Given the description of an element on the screen output the (x, y) to click on. 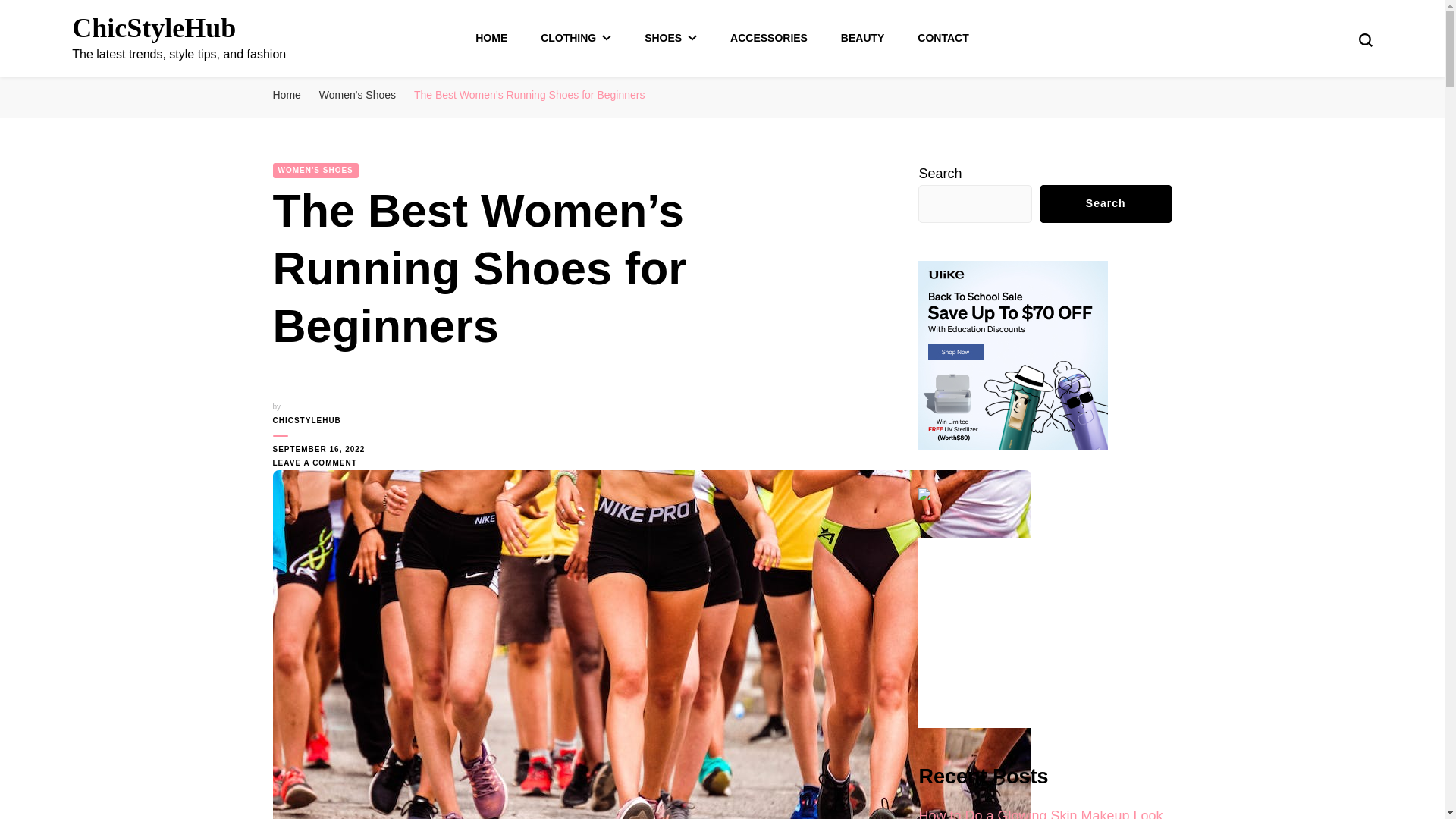
SHOES (671, 37)
HOME (491, 37)
SEPTEMBER 16, 2022 (322, 449)
Women's Shoes (357, 94)
ACCESSORIES (769, 37)
CLOTHING (575, 37)
Home (287, 94)
BEAUTY (863, 37)
CONTACT (942, 37)
ChicStyleHub (153, 28)
CHICSTYLEHUB (322, 420)
WOMEN'S SHOES (315, 170)
